Given the description of an element on the screen output the (x, y) to click on. 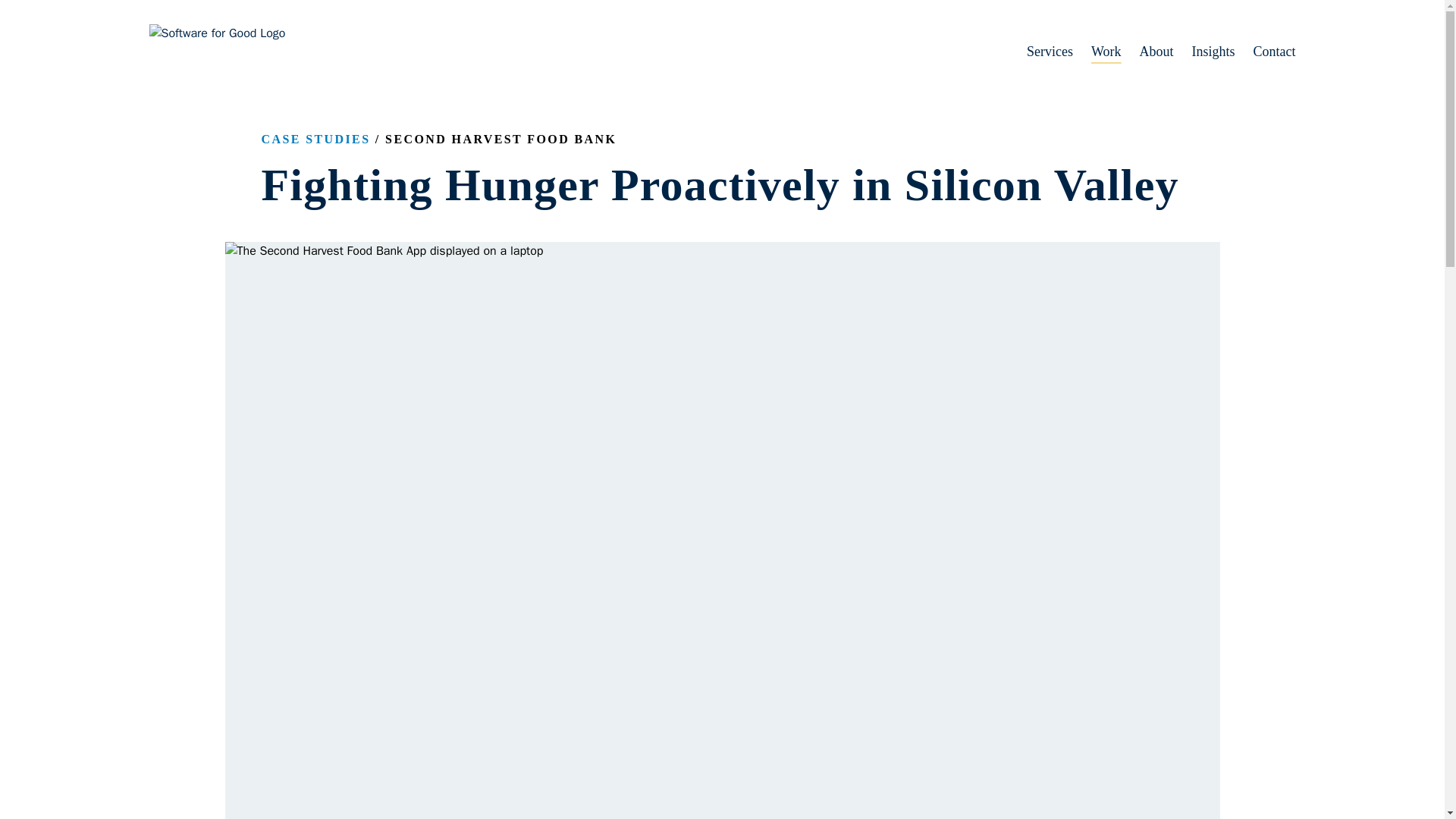
CASE STUDIES (314, 138)
Contact (1264, 51)
About (1147, 51)
Insights (1203, 51)
Work (1097, 51)
Services (1041, 51)
